Given the description of an element on the screen output the (x, y) to click on. 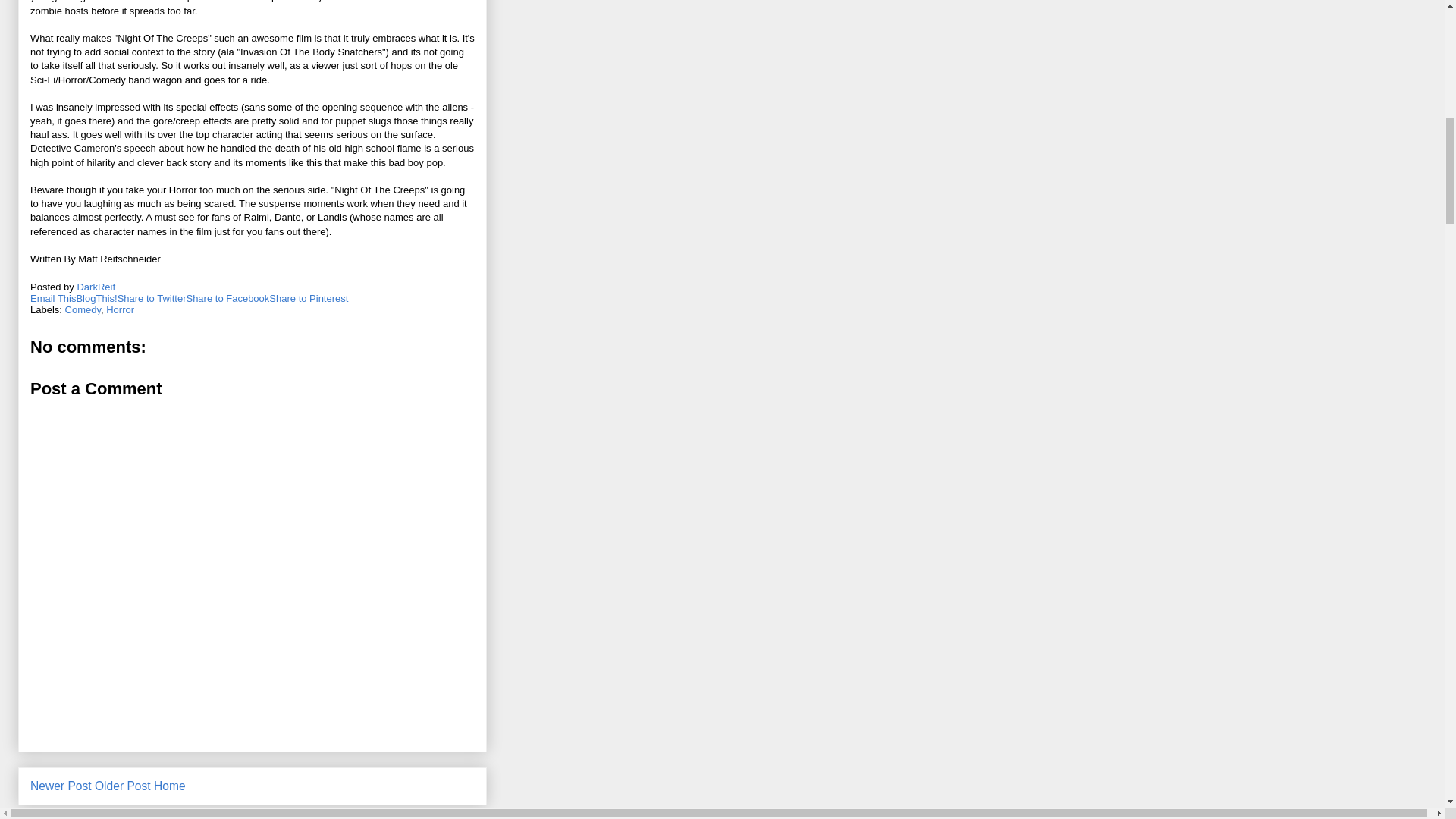
Email This (52, 297)
Horror (119, 309)
DarkReif (96, 286)
Share to Facebook (227, 297)
Home (170, 785)
Newer Post (60, 785)
Share to Twitter (151, 297)
Share to Twitter (151, 297)
BlogThis! (95, 297)
Email This (52, 297)
BlogThis! (95, 297)
Share to Facebook (227, 297)
Older Post (122, 785)
Share to Pinterest (308, 297)
Older Post (122, 785)
